Given the description of an element on the screen output the (x, y) to click on. 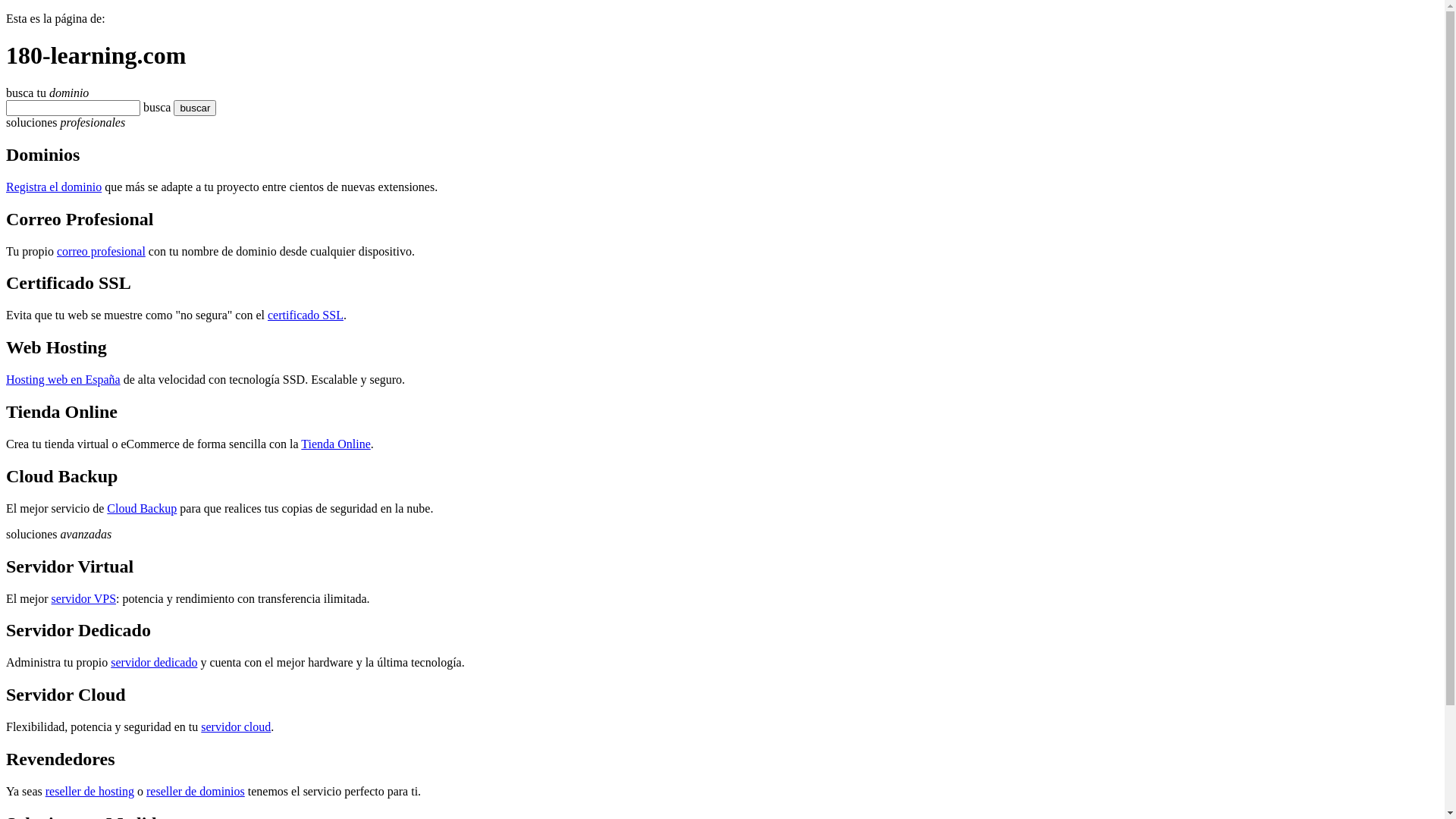
reseller de dominios Element type: text (195, 790)
servidor VPS Element type: text (83, 598)
servidor dedicado Element type: text (153, 661)
Tienda Online Element type: text (335, 443)
servidor cloud Element type: text (235, 726)
reseller de hosting Element type: text (89, 790)
certificado SSL Element type: text (305, 314)
correo profesional Element type: text (100, 250)
buscar Element type: text (179, 108)
Cloud Backup Element type: text (141, 508)
Registra el dominio Element type: text (53, 186)
